Given the description of an element on the screen output the (x, y) to click on. 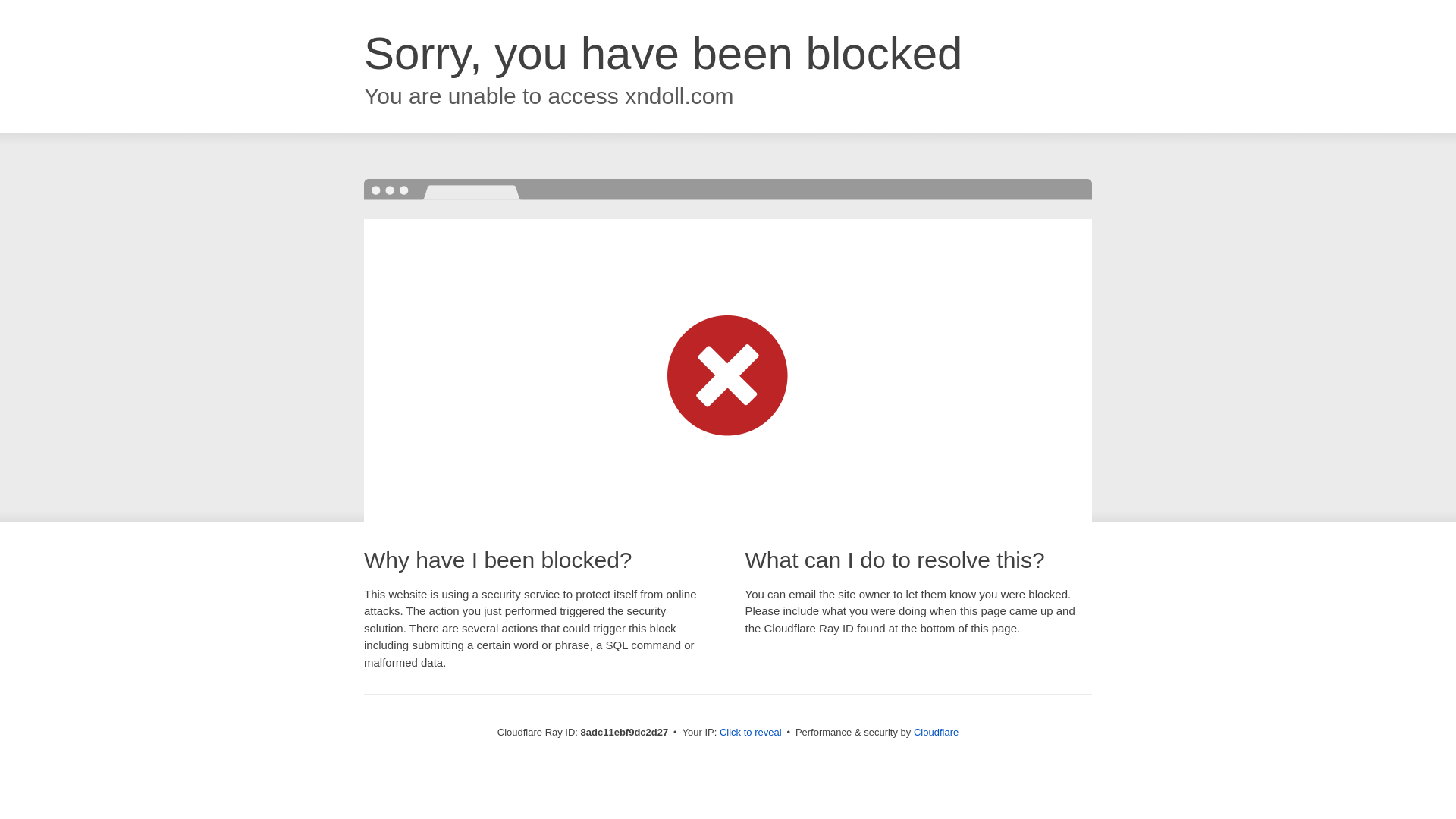
Cloudflare (936, 731)
Click to reveal (750, 732)
